Given the description of an element on the screen output the (x, y) to click on. 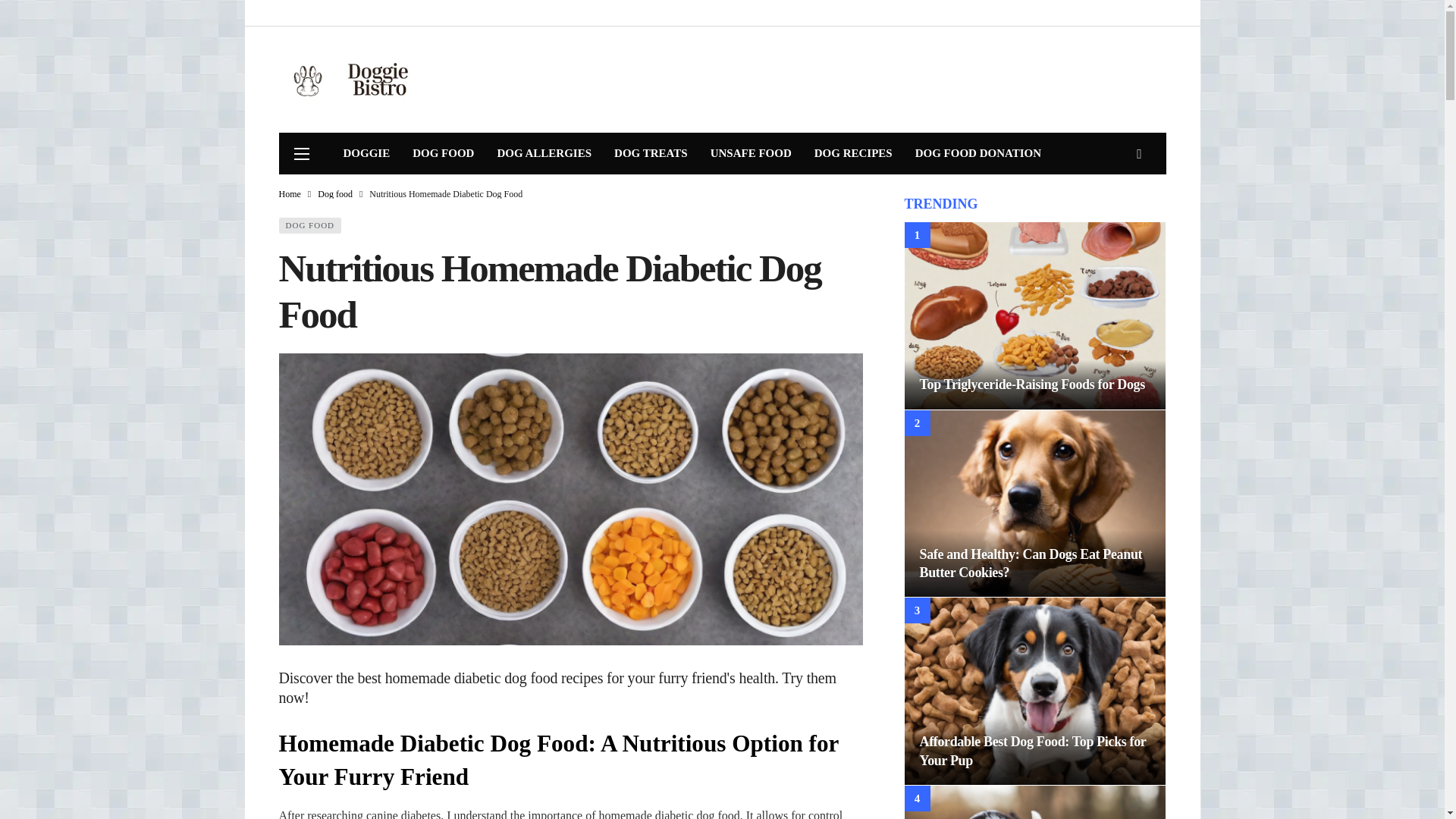
DOG FOOD DONATION (978, 153)
DOG FOOD (442, 153)
DOG FOOD (310, 225)
Safe and Healthy: Can Dogs Eat Peanut Butter Cookies? (1029, 563)
DOG RECIPES (853, 153)
Dog food (334, 194)
DOG TREATS (650, 153)
UNSAFE FOOD (750, 153)
Home (290, 194)
DOG ALLERGIES (543, 153)
DOGGIE (366, 153)
Top Triglyceride-Raising Foods for Dogs (1031, 384)
